Given the description of an element on the screen output the (x, y) to click on. 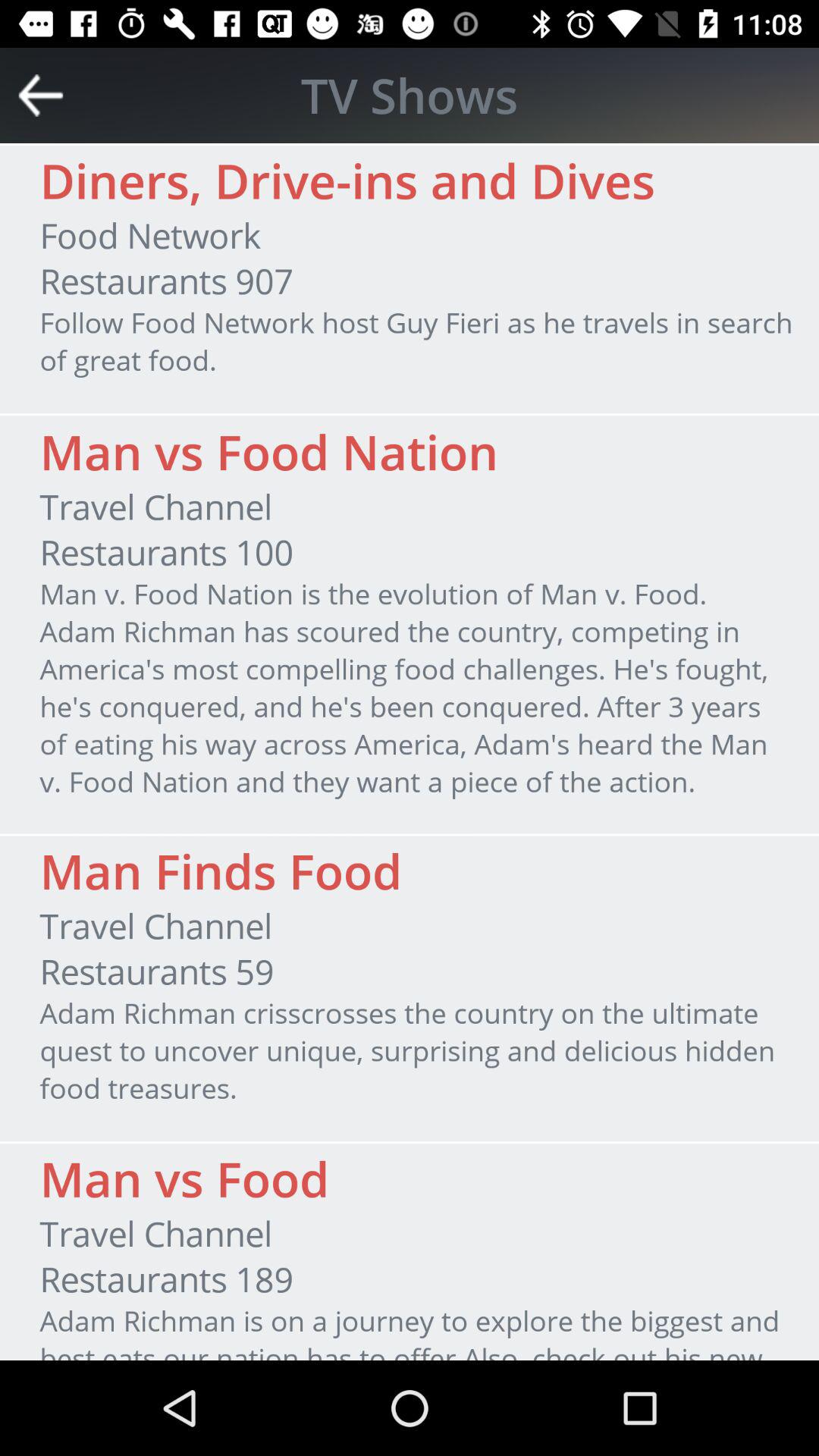
launch the icon next to tv shows item (41, 95)
